Given the description of an element on the screen output the (x, y) to click on. 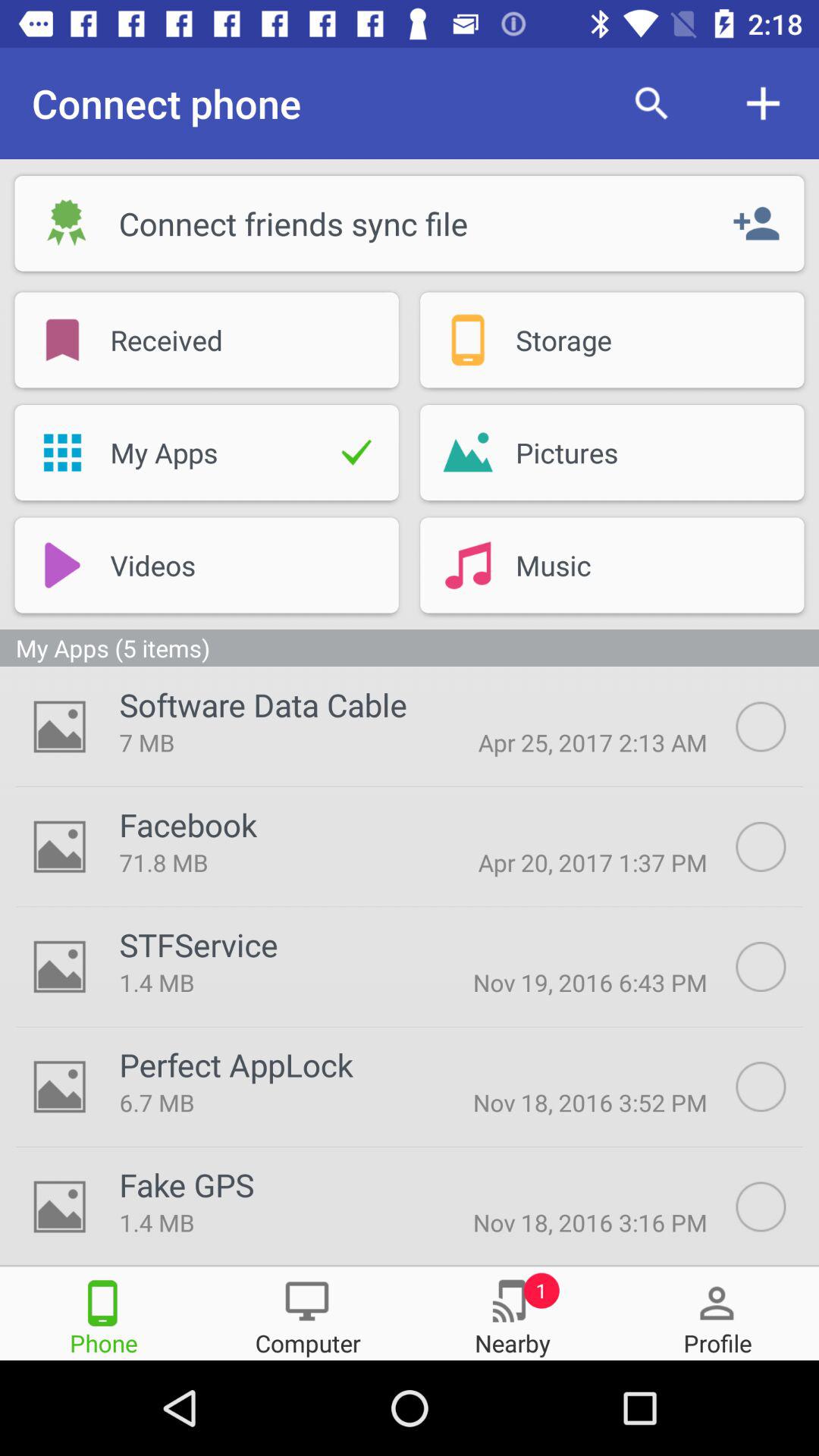
go to storage (612, 339)
click below my apps (206, 564)
click on search icon (651, 103)
